Given the description of an element on the screen output the (x, y) to click on. 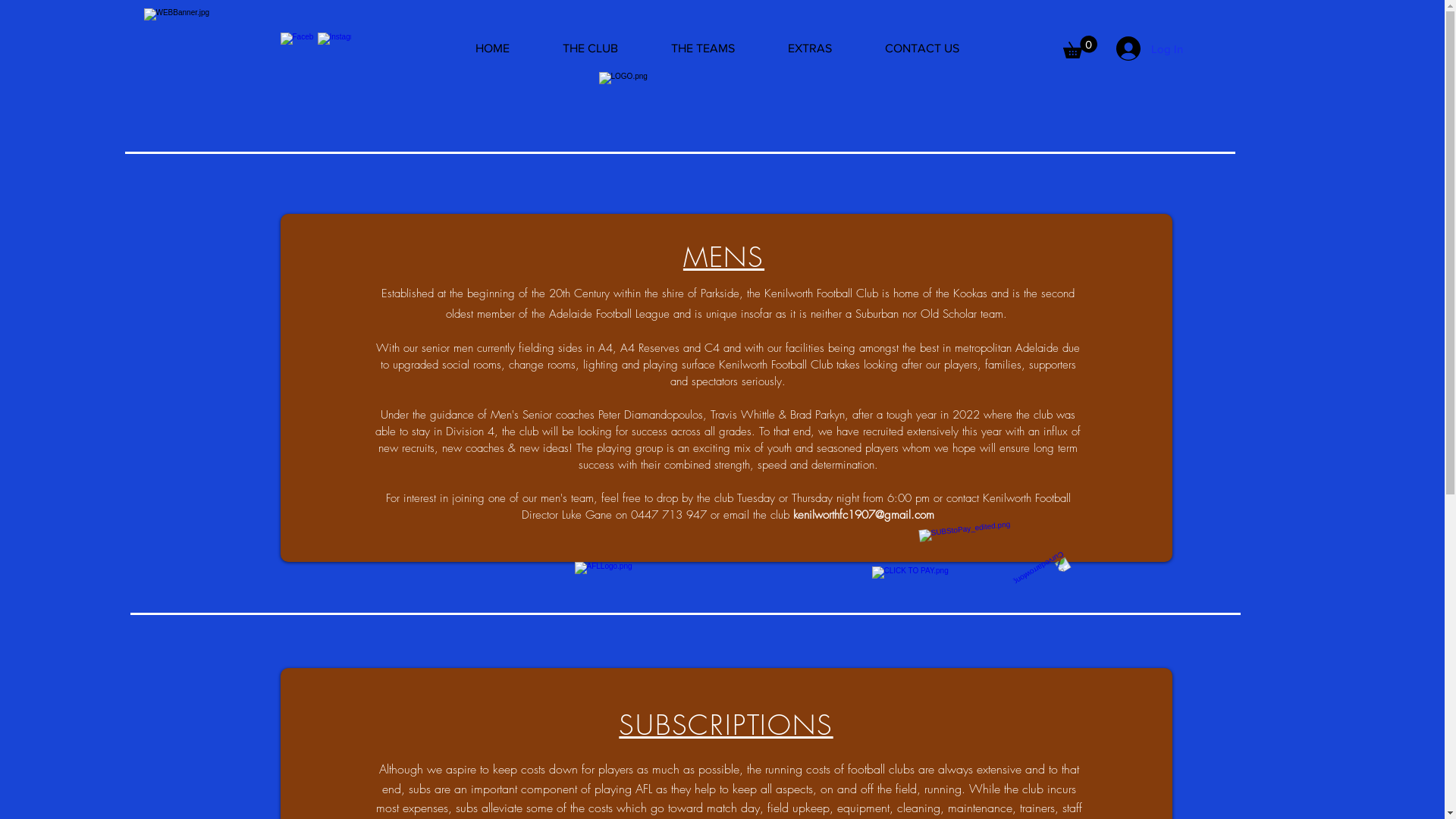
kenilworthfc1907@gmail.com Element type: text (863, 514)
HOME Element type: text (492, 48)
THE CLUB Element type: text (589, 48)
0 Element type: text (1080, 46)
CONTACT US Element type: text (921, 48)
Log In Element type: text (1149, 48)
